Given the description of an element on the screen output the (x, y) to click on. 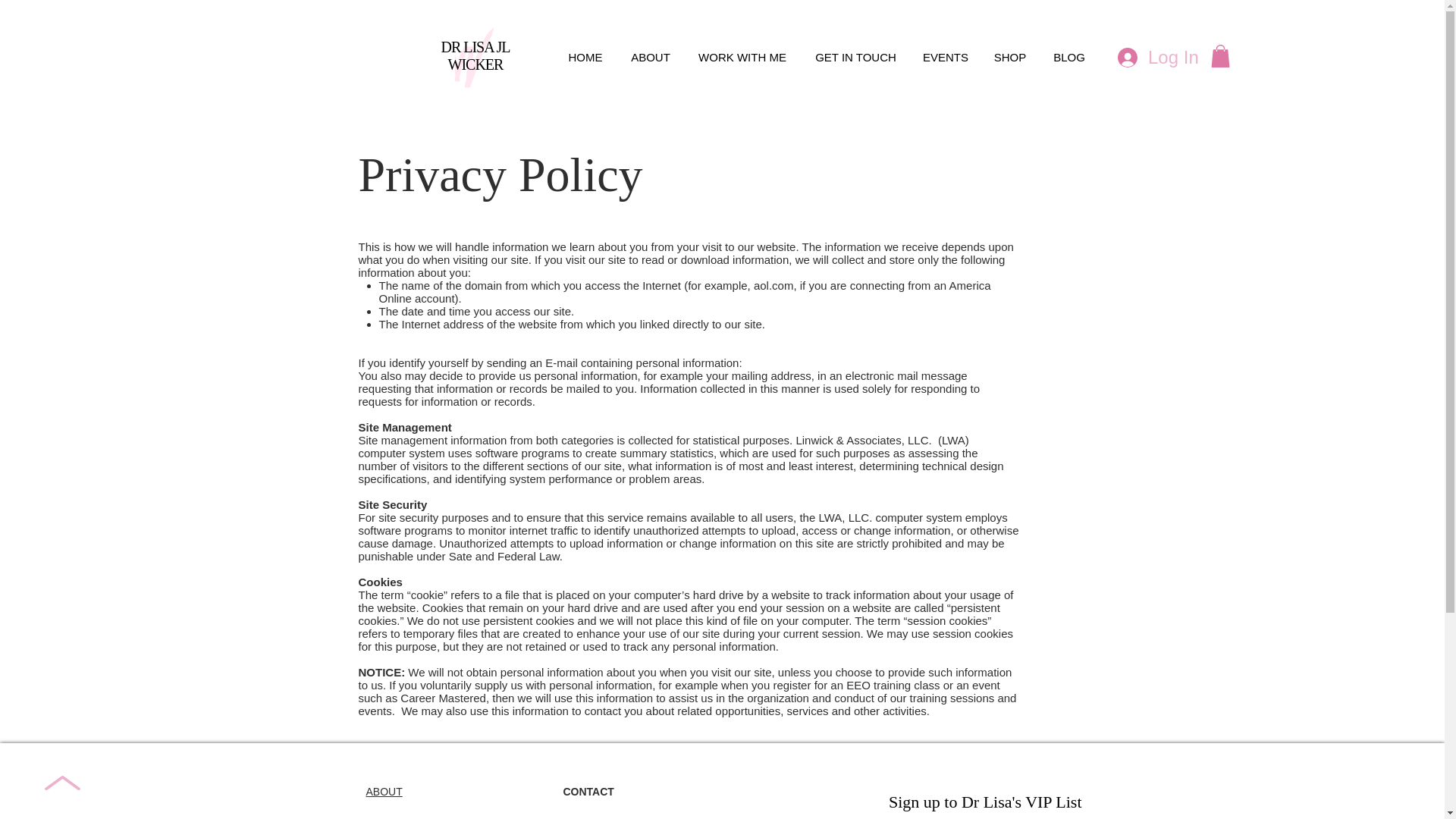
ABOUT (383, 791)
Log In (1151, 57)
BLOG (1069, 57)
WICKER (475, 64)
EVENTS (945, 57)
SHOP (1009, 57)
GET IN TOUCH (855, 57)
HOME (585, 57)
ABOUT (650, 57)
WORK WITH ME (742, 57)
DR LISA JL (475, 46)
